Given the description of an element on the screen output the (x, y) to click on. 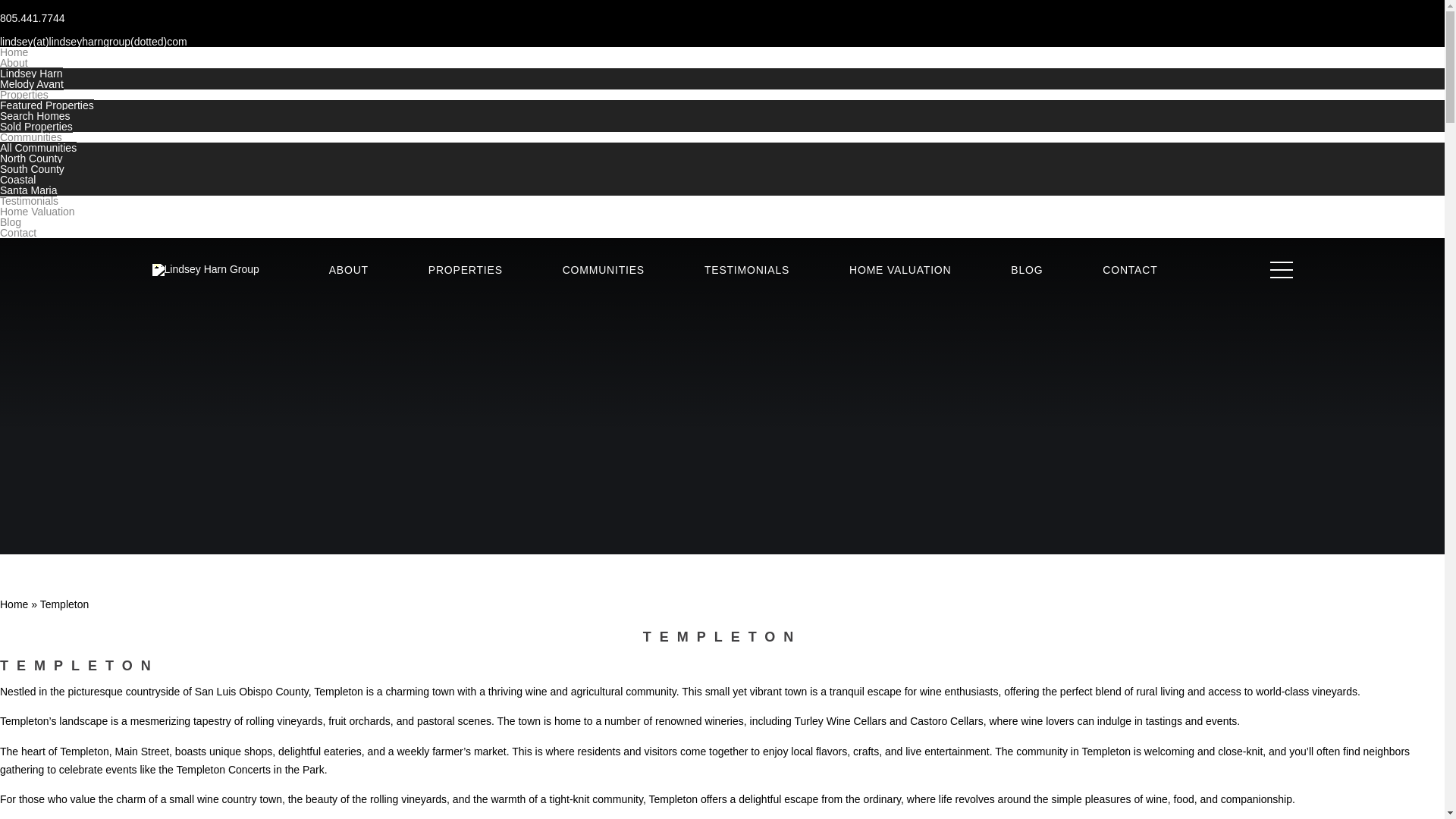
COMMUNITIES (603, 269)
ABOUT (348, 269)
Testimonials (29, 200)
Communities (31, 137)
All Communities (38, 147)
Melody Avant (32, 83)
South County (32, 168)
TESTIMONIALS (746, 269)
Lindsey Harn (31, 73)
HOME VALUATION (899, 269)
Sold Properties (36, 126)
North County (31, 158)
PROPERTIES (465, 269)
BLOG (1026, 269)
Properties (24, 94)
